Given the description of an element on the screen output the (x, y) to click on. 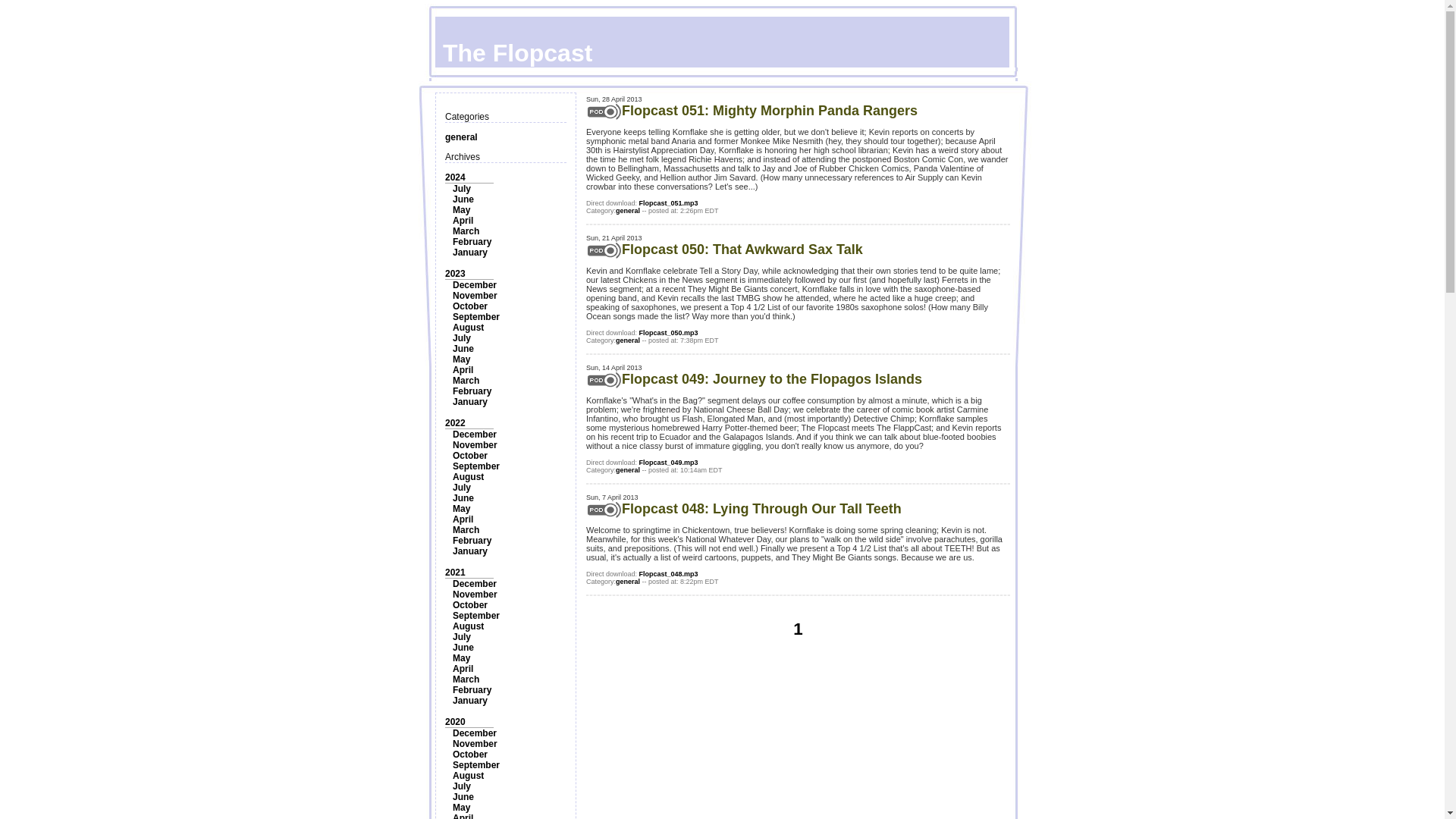
September (475, 466)
June (463, 348)
October (469, 604)
May (461, 358)
March (465, 529)
November (474, 295)
December (474, 434)
June (463, 498)
April (462, 369)
2022 (455, 422)
February (472, 540)
general (461, 136)
September (475, 317)
January (469, 252)
February (472, 390)
